Given the description of an element on the screen output the (x, y) to click on. 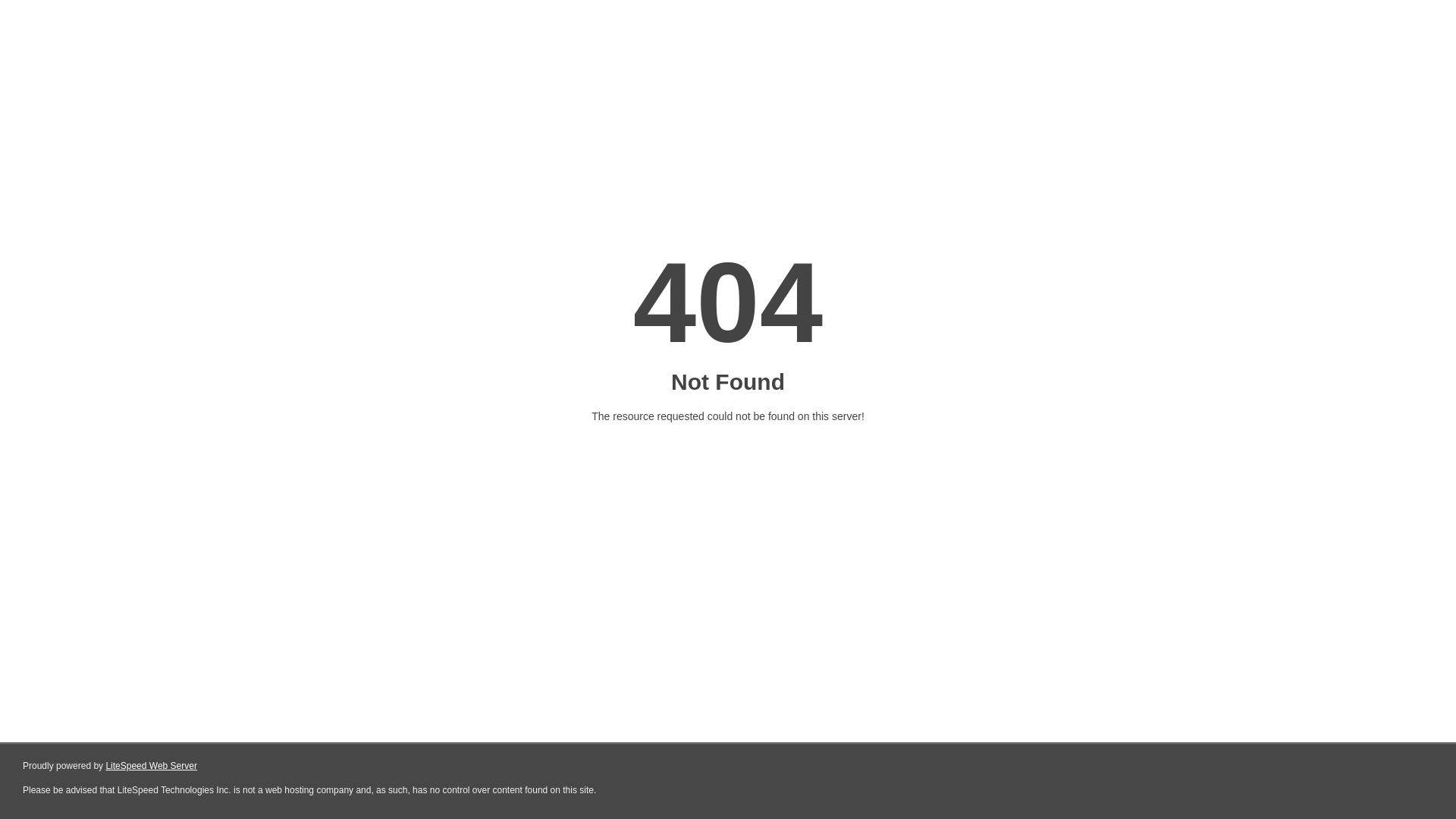
LiteSpeed Web Server Element type: text (151, 765)
